Given the description of an element on the screen output the (x, y) to click on. 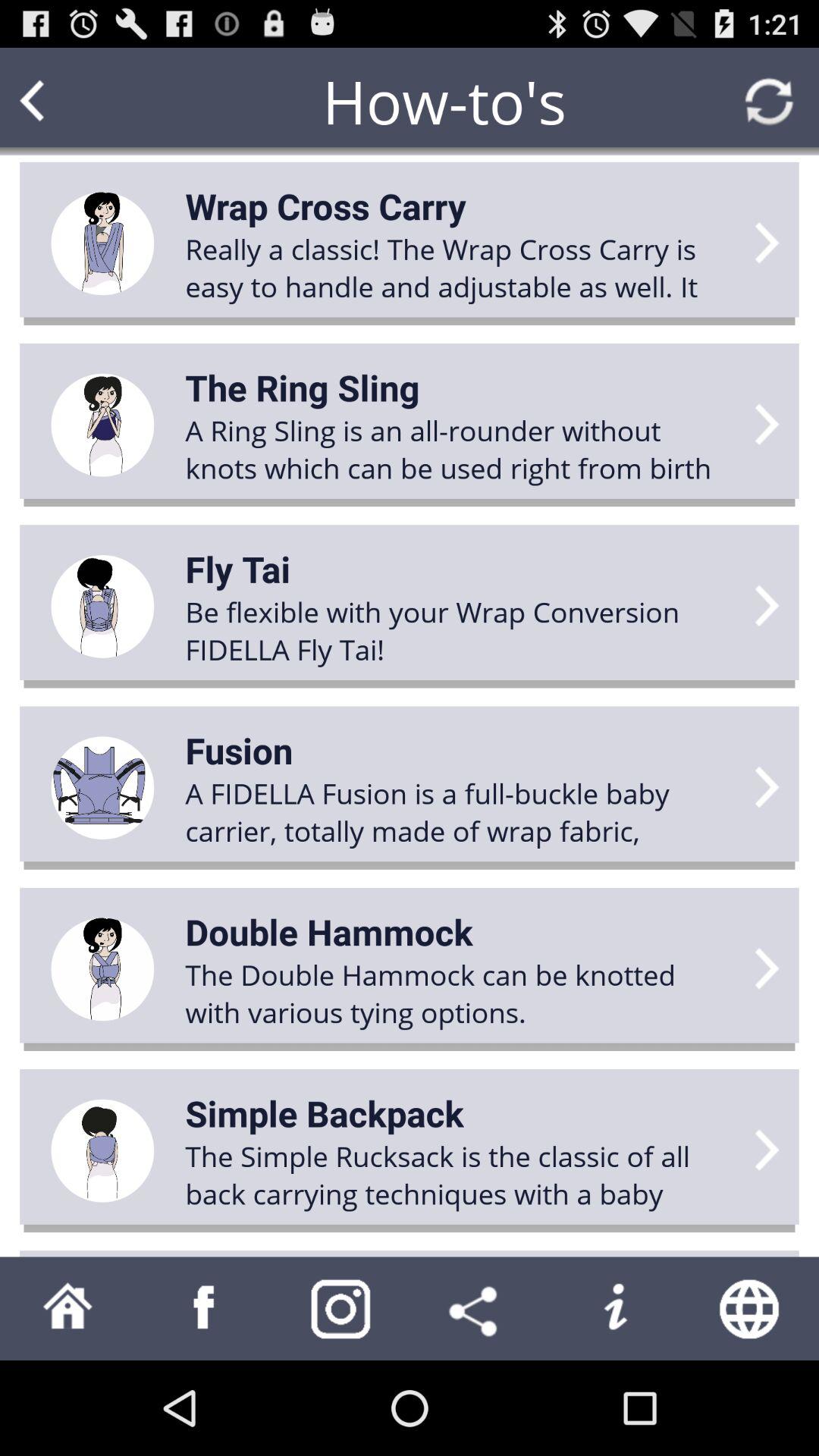
swipe until the simple rucksack (460, 1174)
